Given the description of an element on the screen output the (x, y) to click on. 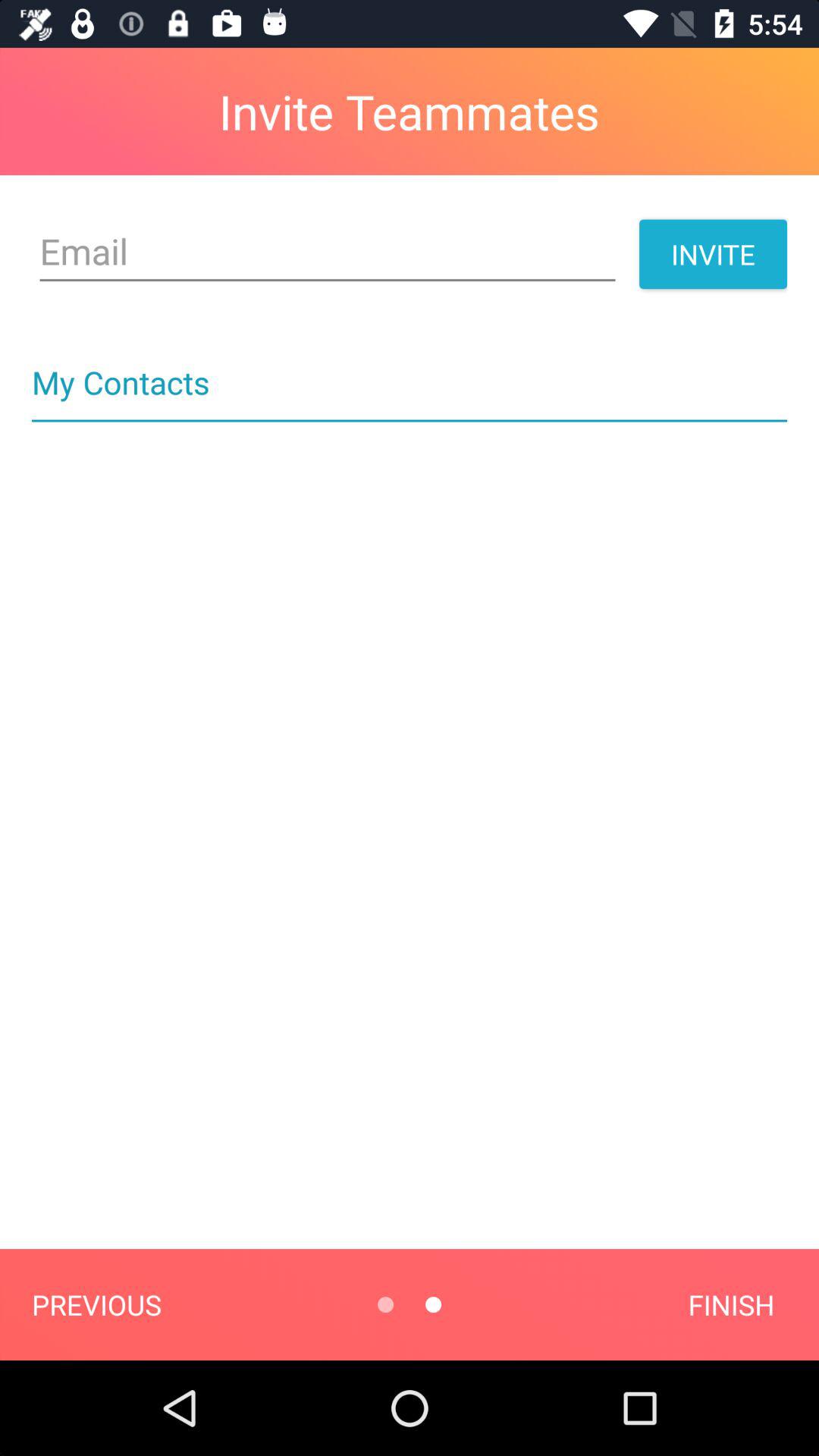
choose item at the bottom left corner (96, 1304)
